Given the description of an element on the screen output the (x, y) to click on. 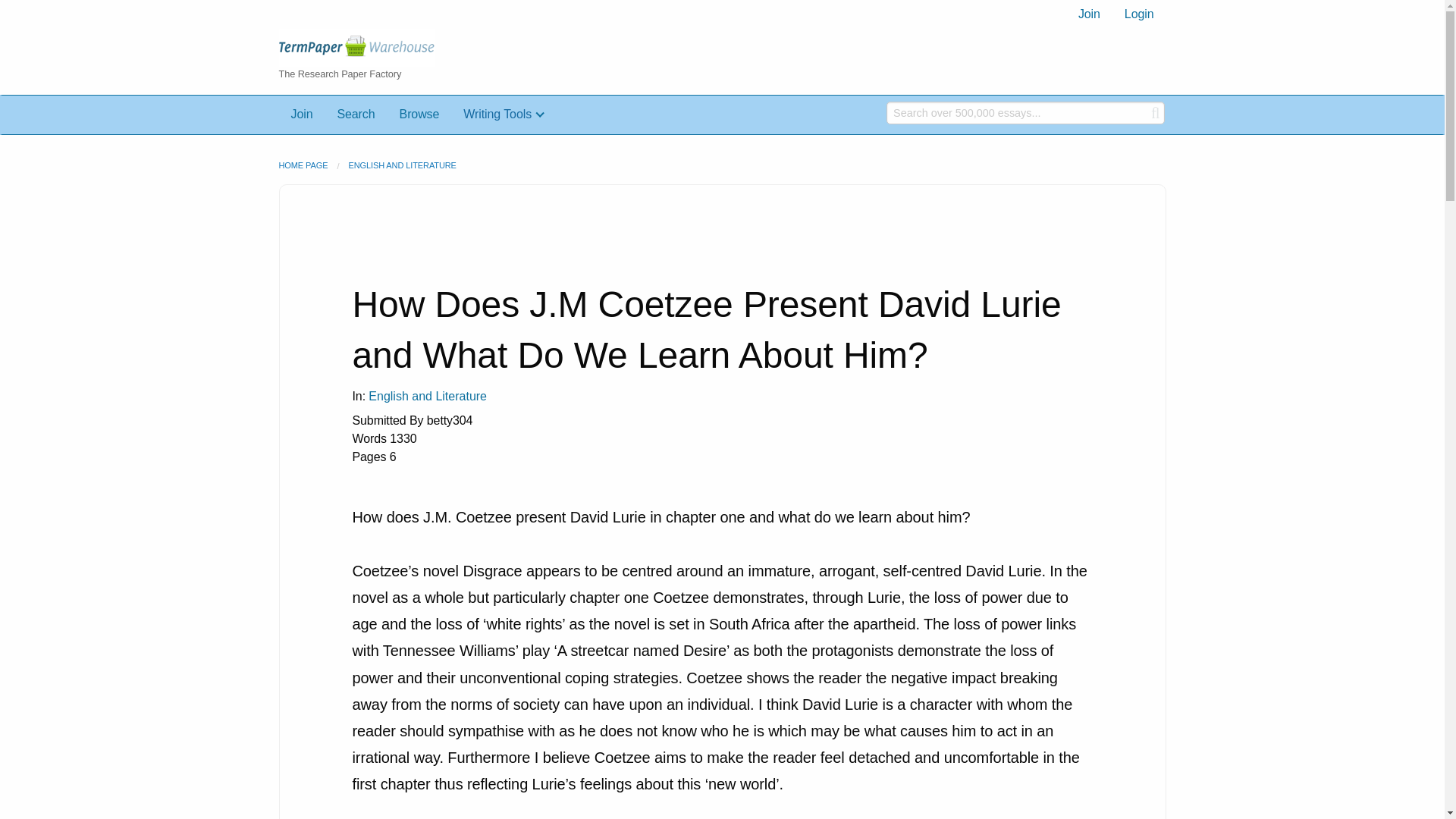
Join (1088, 14)
ENGLISH AND LITERATURE (401, 164)
English and Literature (427, 396)
English and Literature (427, 395)
Login (1139, 14)
Writing Tools (504, 113)
Join (301, 113)
HOME PAGE (304, 164)
The Research Paper Factory (381, 61)
Search (355, 113)
Browse (419, 113)
